Given the description of an element on the screen output the (x, y) to click on. 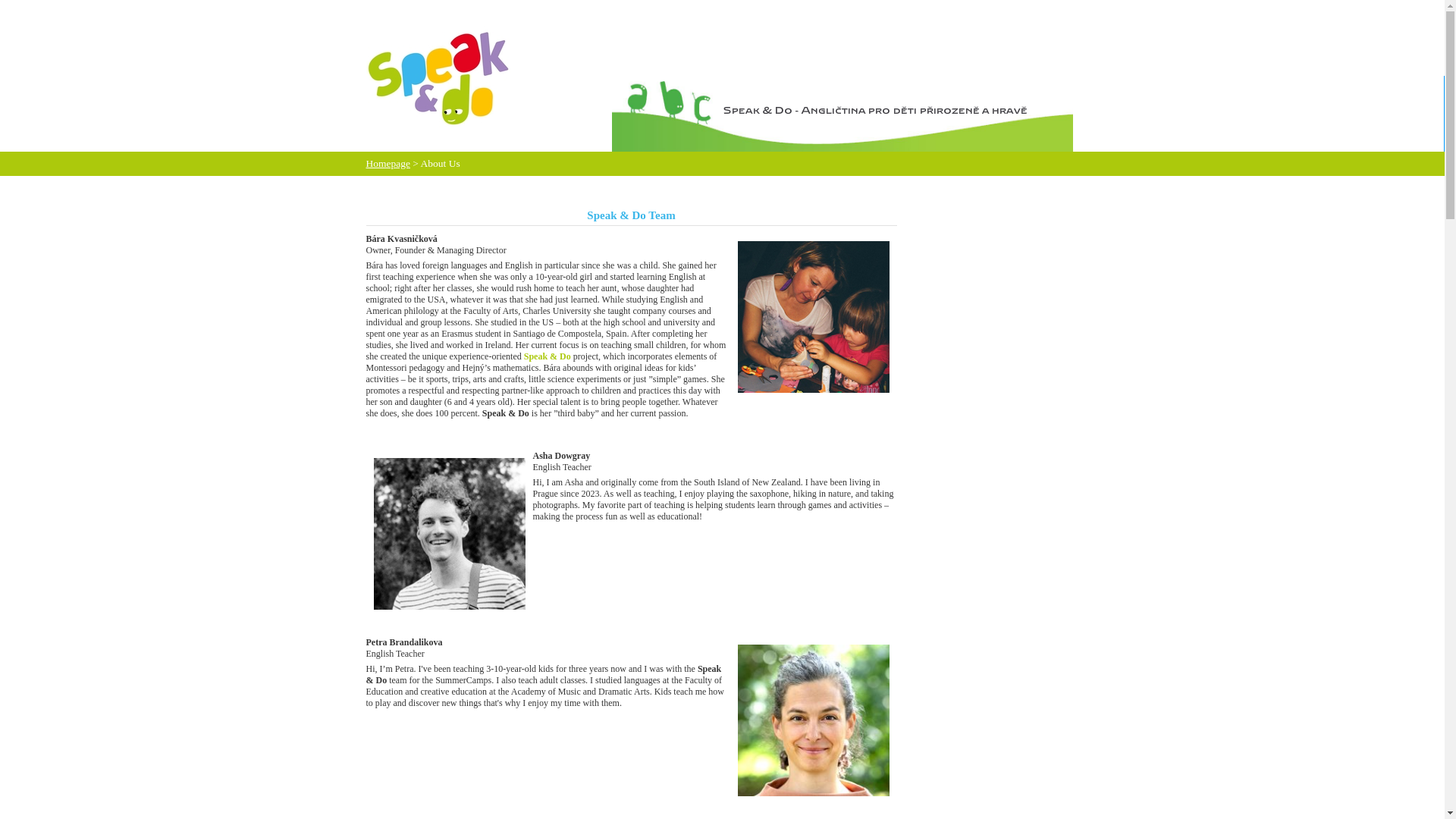
Homepage (387, 163)
